Given the description of an element on the screen output the (x, y) to click on. 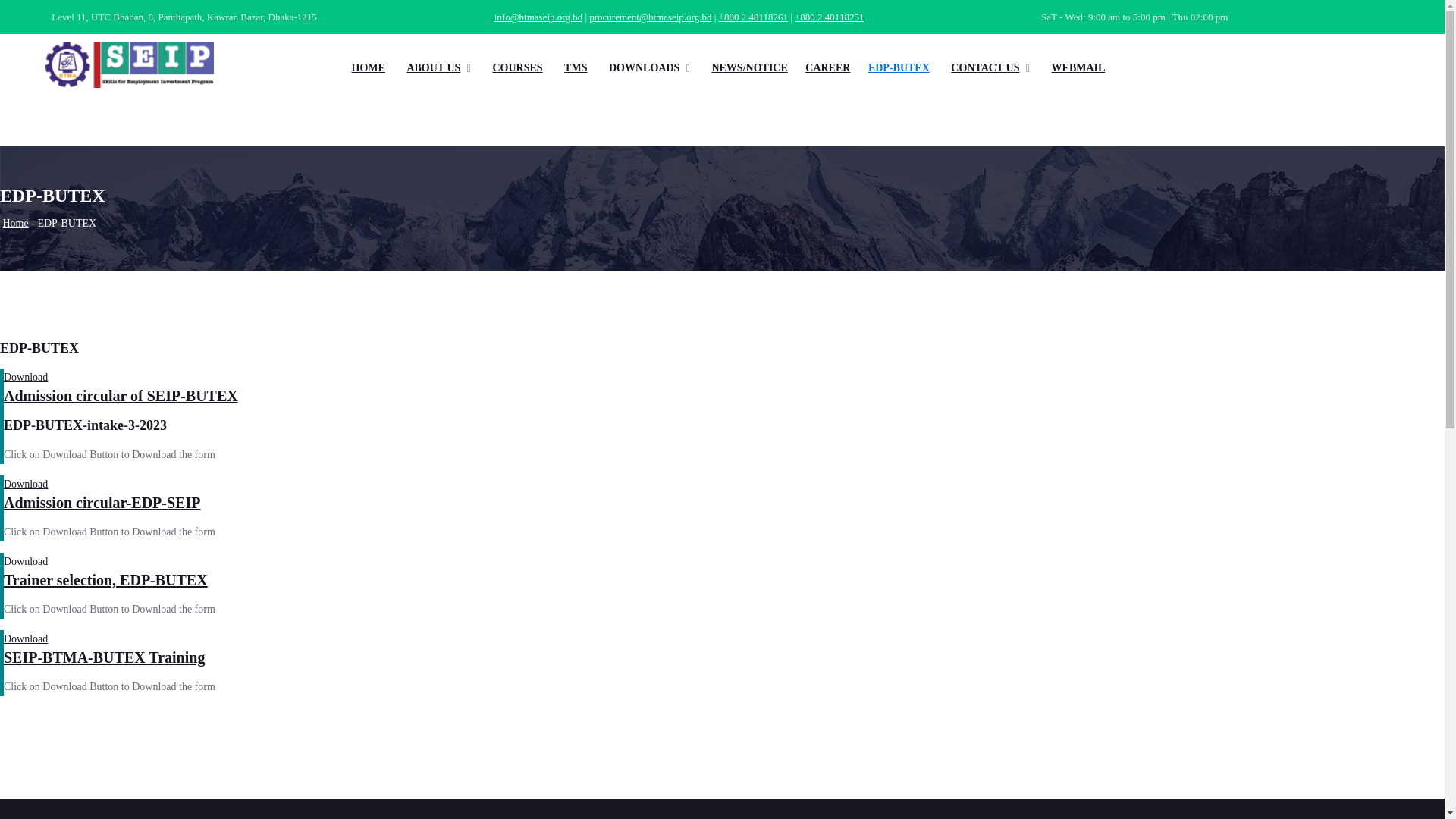
Search Element type: hover (1261, 64)
CAREER Element type: text (827, 68)
Admission circular-EDP-SEIP Element type: text (101, 502)
Download Element type: text (25, 638)
+880 2 48118251 Element type: text (828, 16)
Download Element type: text (25, 561)
+880 2 48118261 Element type: text (752, 16)
procurement@btmaseip.org.bd Element type: text (650, 16)
EDP-BUTEX Element type: text (898, 68)
HOME Element type: text (366, 68)
Home Element type: text (15, 223)
DOWNLOADS Element type: text (642, 68)
Download Element type: text (25, 376)
Admission circular of SEIP-BUTEX Element type: text (120, 395)
TMS Element type: text (573, 68)
COURSES Element type: text (515, 68)
info@btmaseip.org.bd Element type: text (538, 16)
ABOUT US Element type: text (431, 68)
NEWS/NOTICE Element type: text (747, 68)
Download Element type: text (25, 483)
Trainer selection, EDP-BUTEX Element type: text (105, 579)
WEBMAIL Element type: text (1076, 68)
SEIP-BTMA-BUTEX Training Element type: text (103, 657)
CONTACT US Element type: text (983, 68)
